Given the description of an element on the screen output the (x, y) to click on. 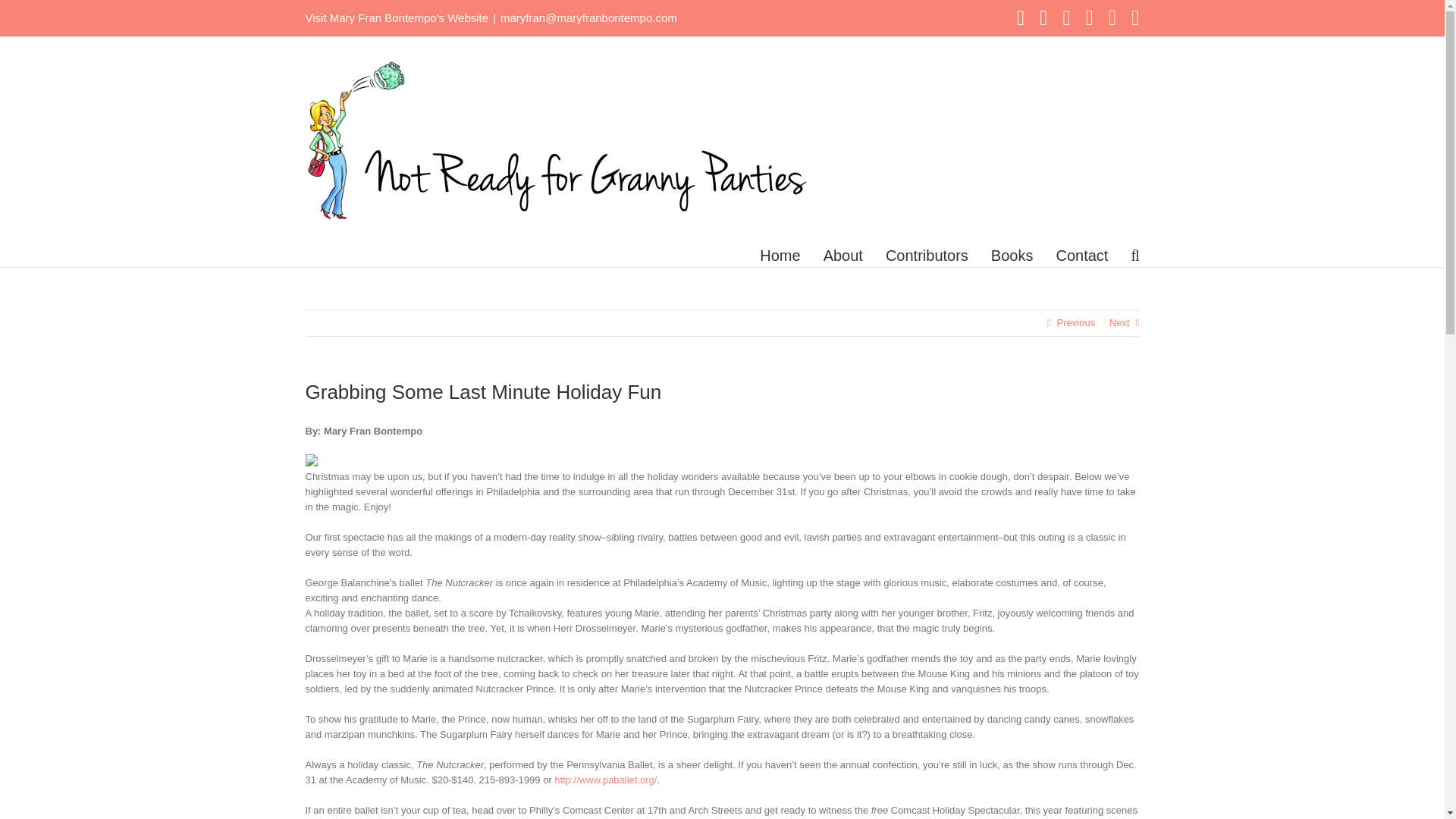
About (843, 255)
Visit Mary Fran Bontempo's Website (395, 17)
Home (779, 255)
Books (1012, 255)
Contact (1081, 255)
Previous (1076, 322)
Contributors (926, 255)
